Given the description of an element on the screen output the (x, y) to click on. 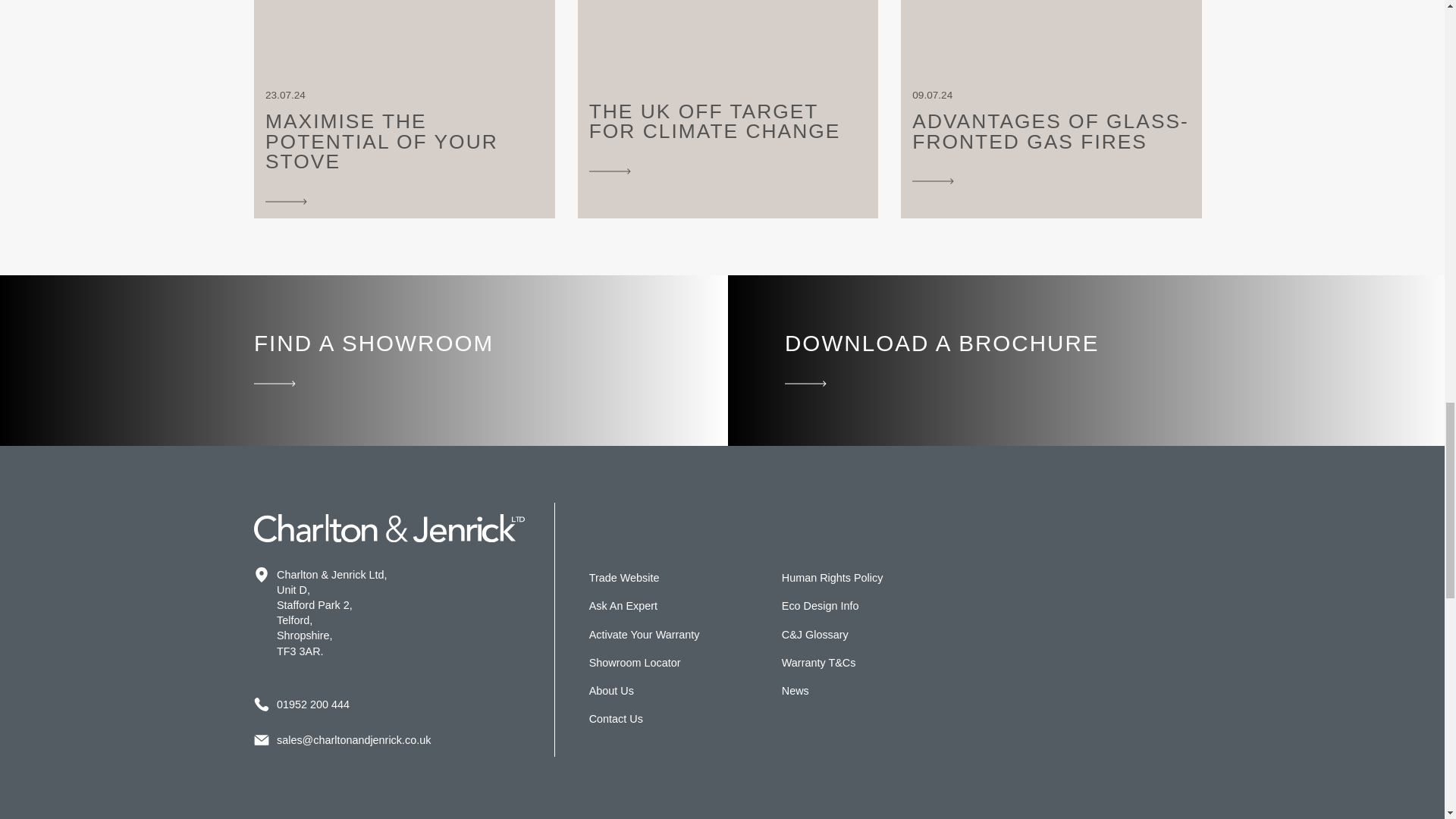
FIND A SHOWROOM (484, 360)
THE UK OFF TARGET FOR CLIMATE CHANGE (403, 109)
DOWNLOAD A BROCHURE (1051, 99)
01952 200 444 (728, 94)
